Given the description of an element on the screen output the (x, y) to click on. 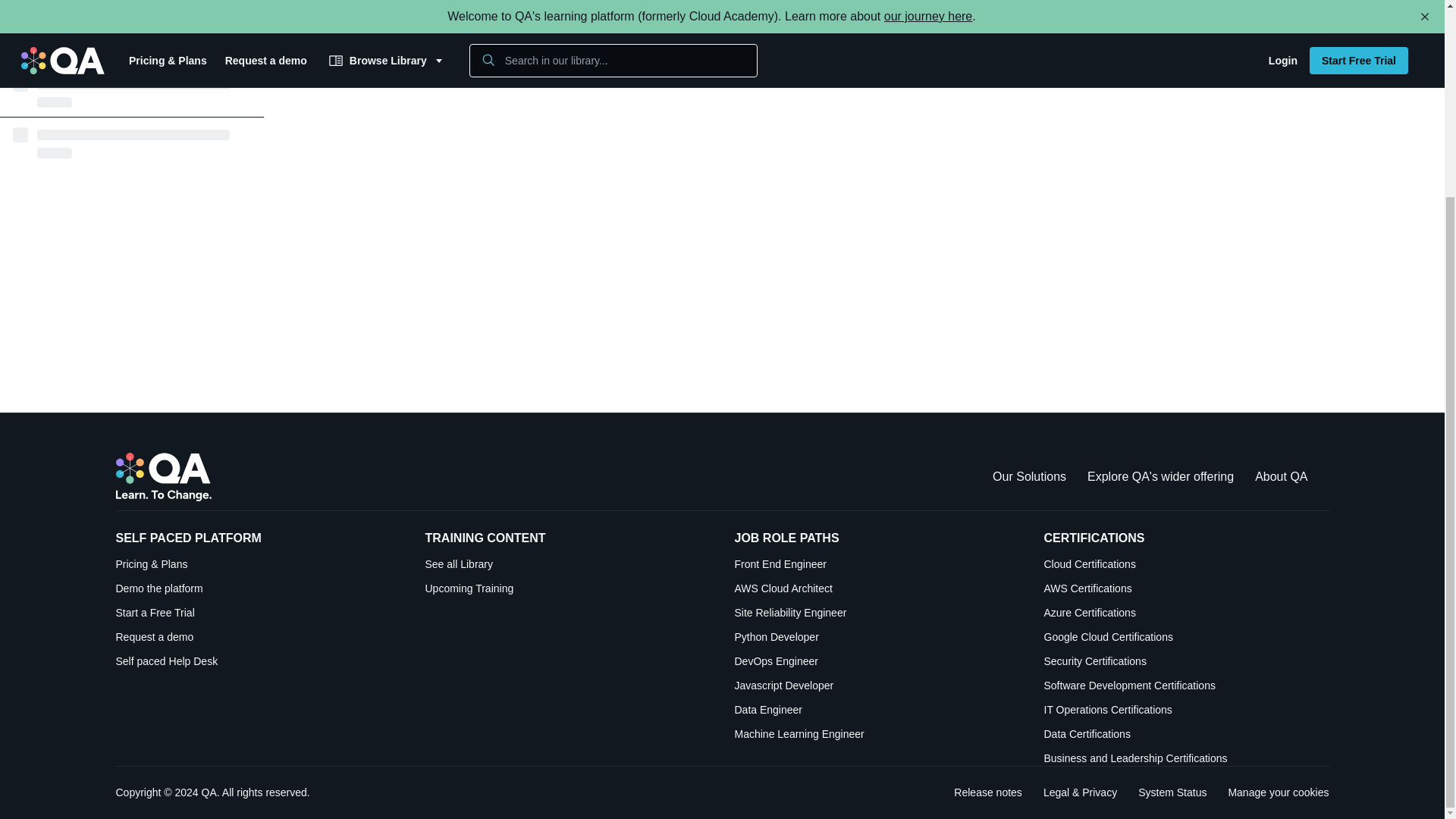
Upcoming Training (567, 588)
Azure Certifications (1185, 612)
Javascript Developer (876, 685)
AWS Cloud Architect (876, 588)
Business and Leadership Certifications (1185, 758)
AWS Certifications (1185, 588)
Python Developer (876, 636)
Start a Free Trial (257, 612)
Self paced Help Desk (257, 661)
DevOps Engineer (876, 661)
